Given the description of an element on the screen output the (x, y) to click on. 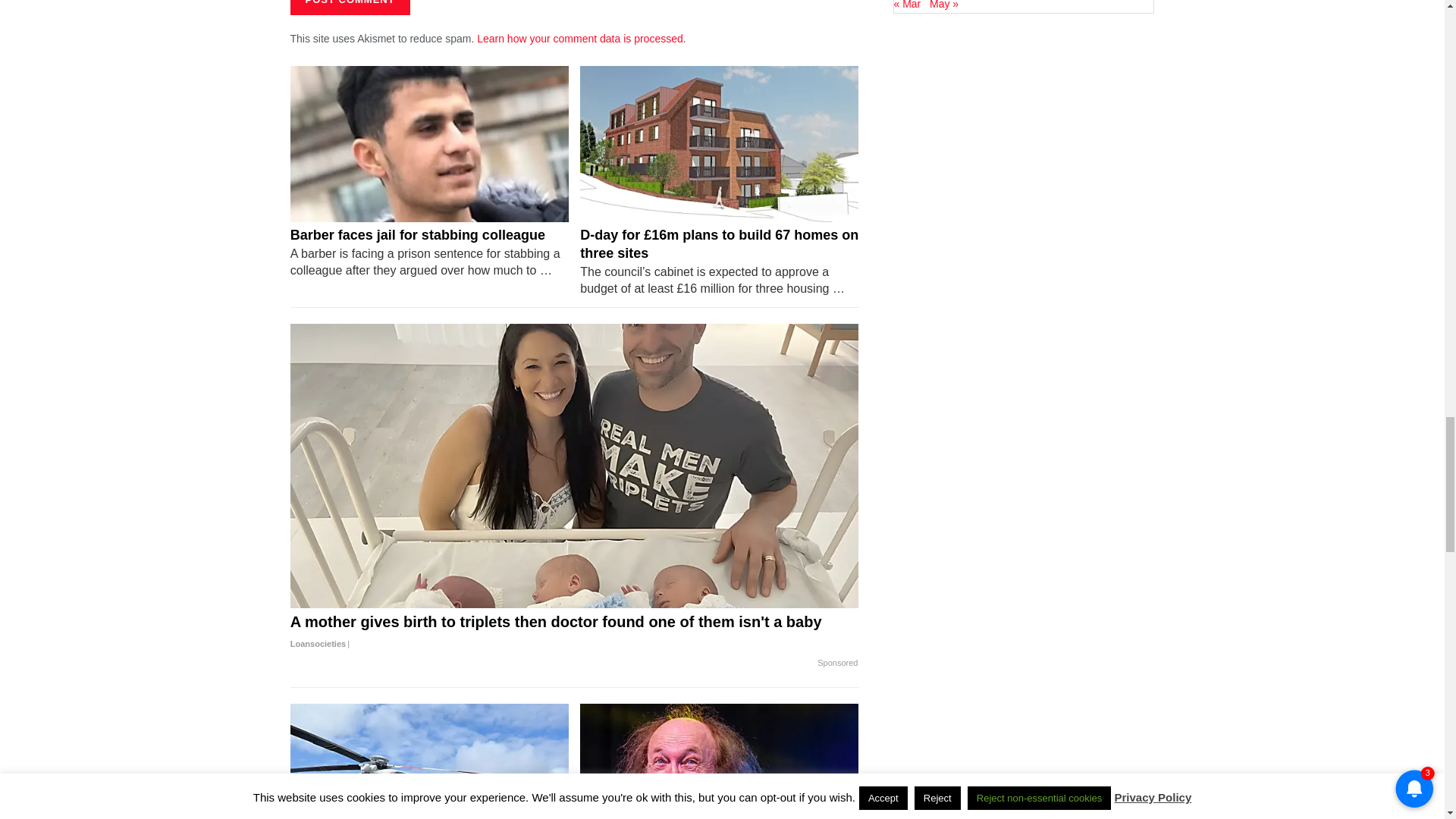
Post Comment (349, 7)
